Given the description of an element on the screen output the (x, y) to click on. 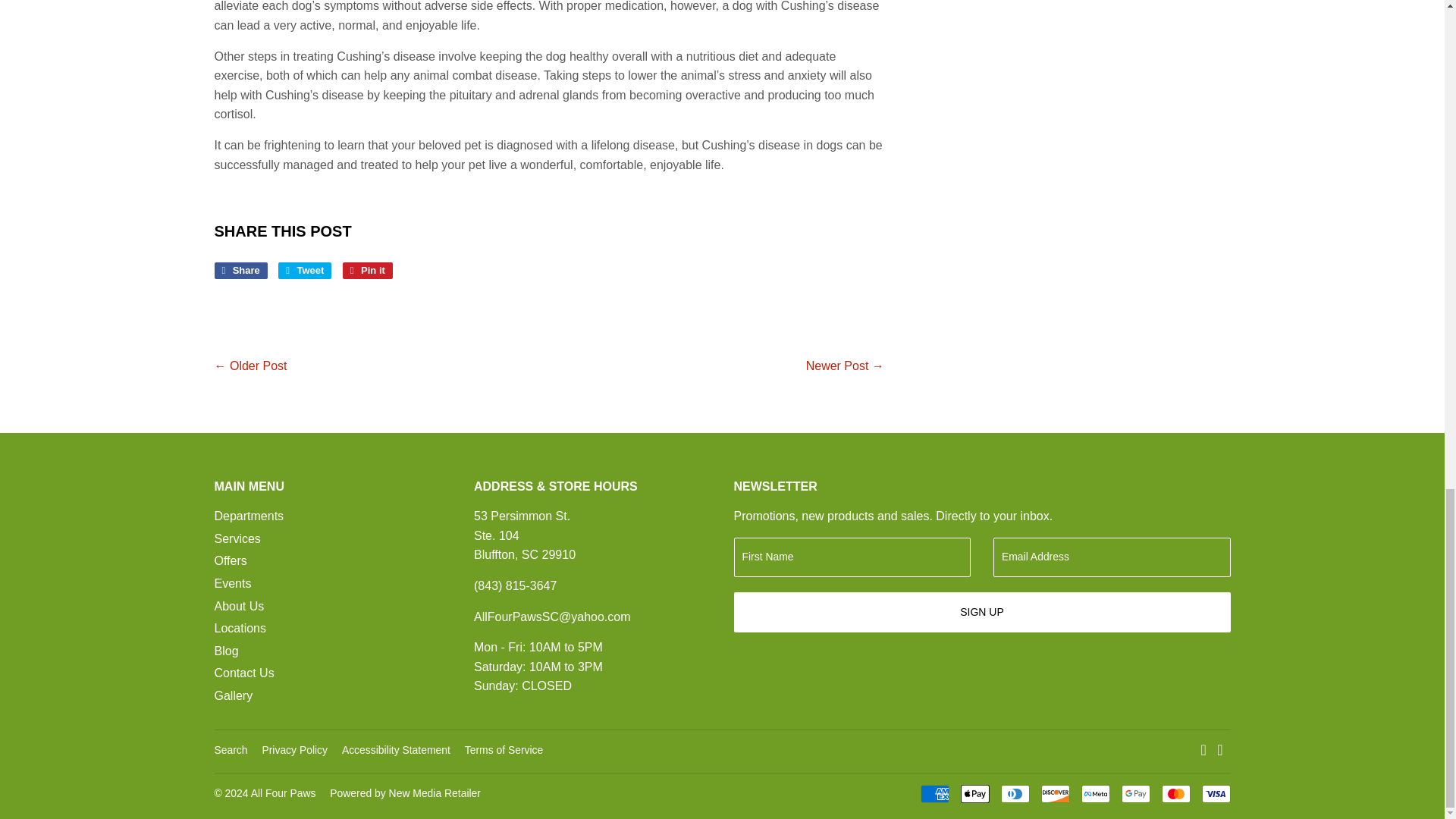
American Express (934, 793)
Diners Club (1015, 793)
Google Pay (1135, 793)
Discover (304, 270)
Tweet on Twitter (1054, 793)
Meta Pay (367, 270)
Pin on Pinterest (240, 270)
Share on Facebook (304, 270)
New Media Retailer (1095, 793)
Visa (367, 270)
Mastercard (240, 270)
Apple Pay (405, 793)
